Given the description of an element on the screen output the (x, y) to click on. 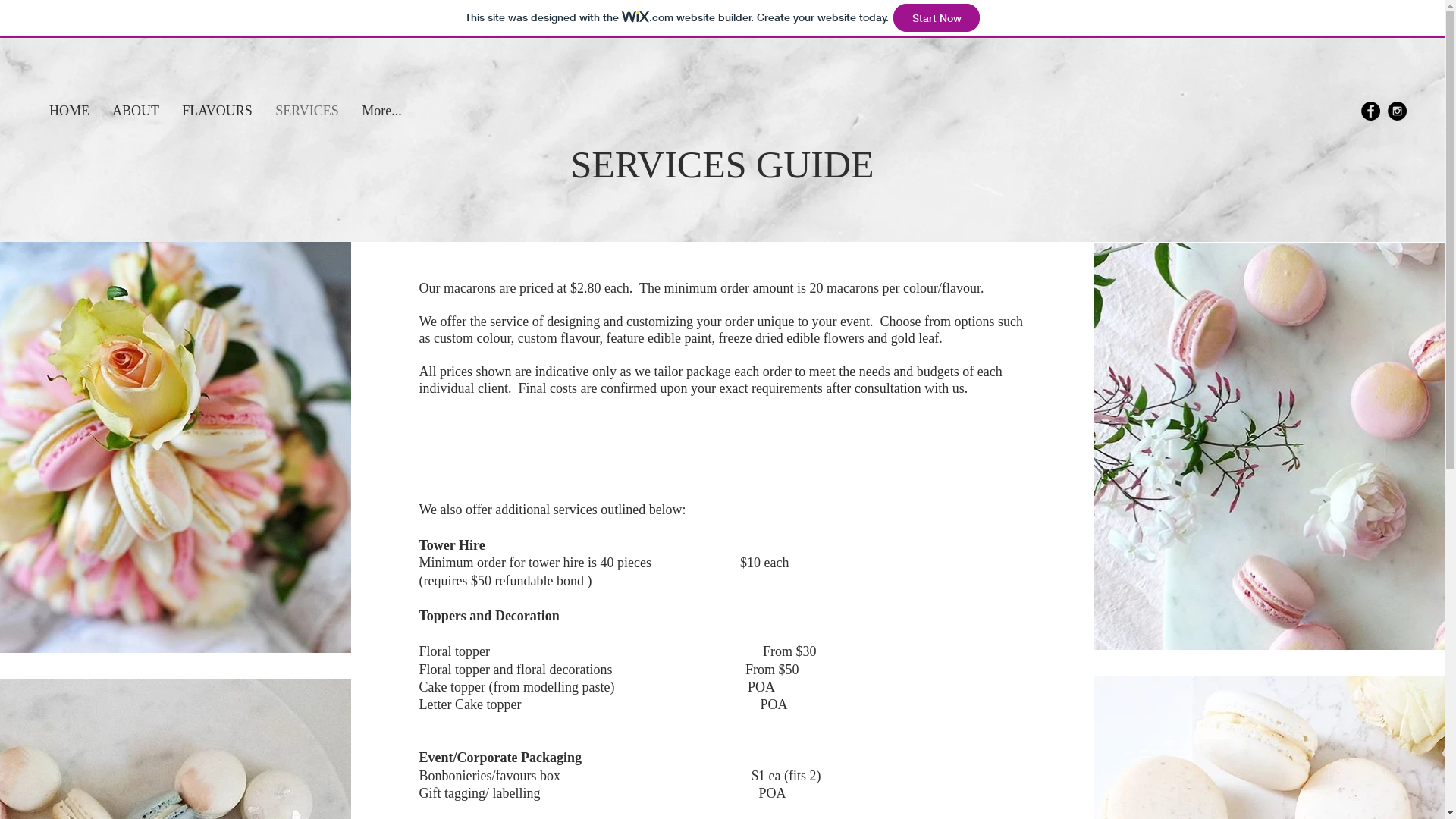
HOME Element type: text (68, 110)
SERVICES Element type: text (306, 110)
FLAVOURS Element type: text (216, 110)
ABOUT Element type: text (135, 110)
